Given the description of an element on the screen output the (x, y) to click on. 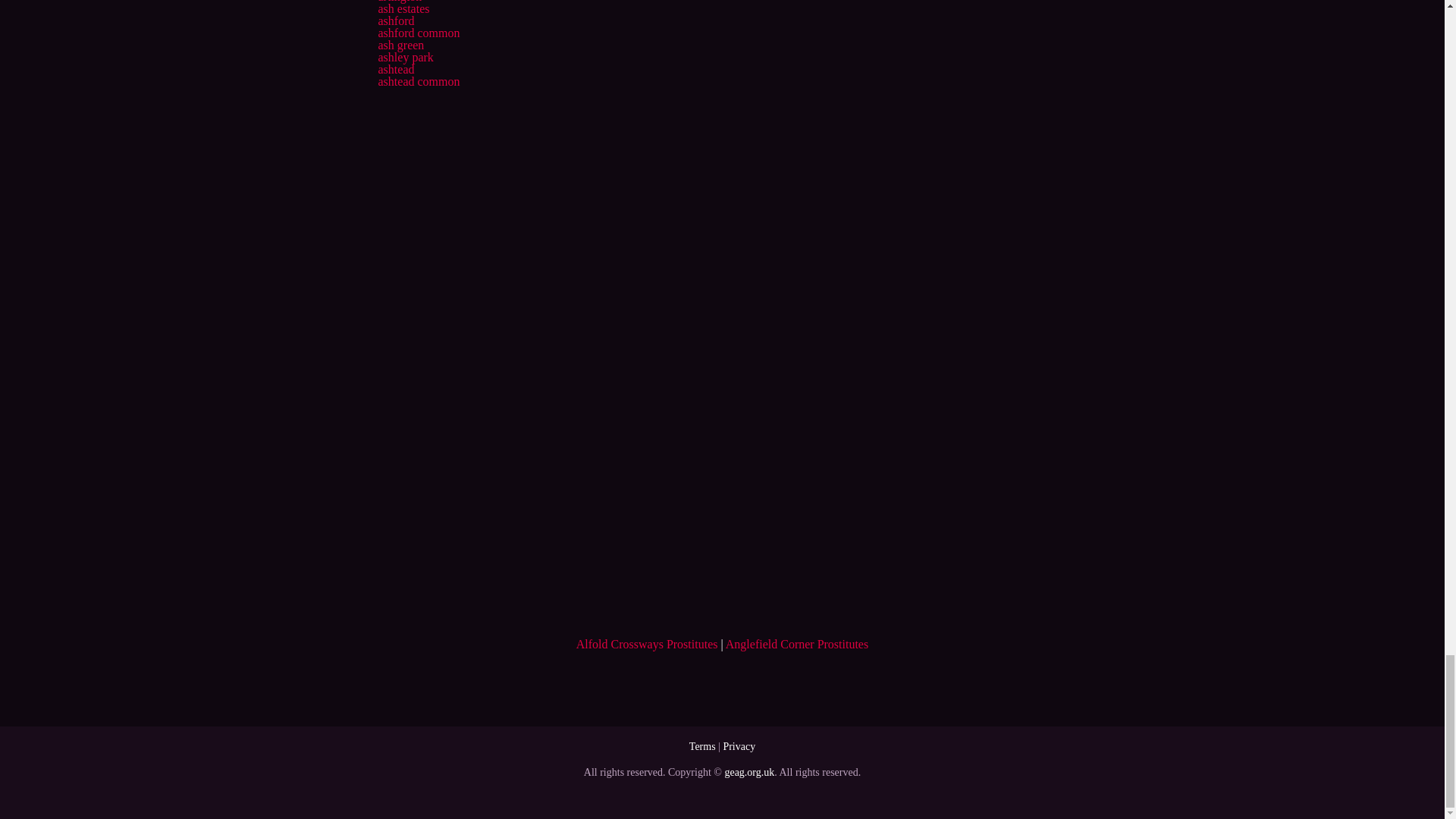
Privacy (738, 746)
ashley park (404, 56)
geag.org.uk (748, 772)
Anglefield Corner Prostitutes (796, 644)
ashford (395, 20)
Alfold Crossways Prostitutes (646, 644)
ashford common (418, 32)
Terms (702, 746)
ash estates (403, 8)
Privacy (738, 746)
